Given the description of an element on the screen output the (x, y) to click on. 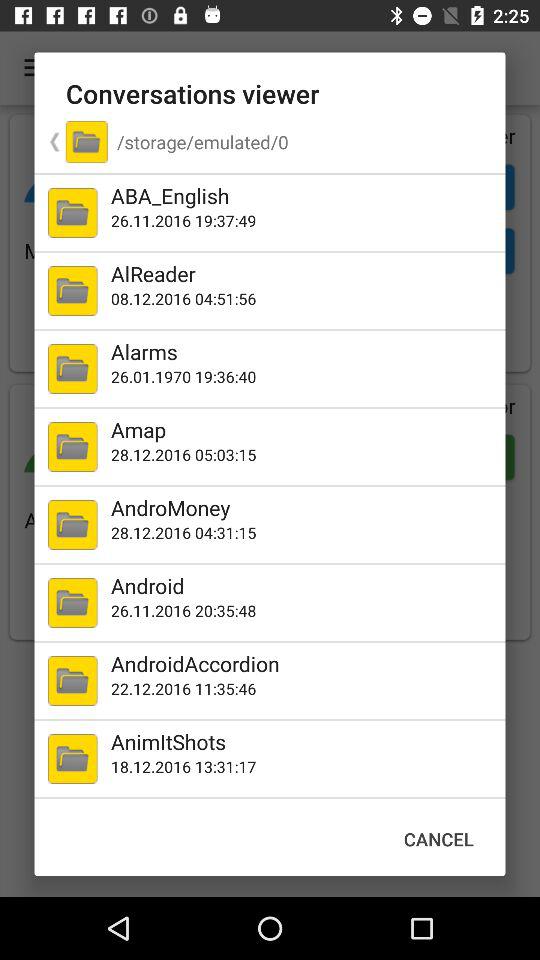
open icon above 18 12 2016 (304, 741)
